Given the description of an element on the screen output the (x, y) to click on. 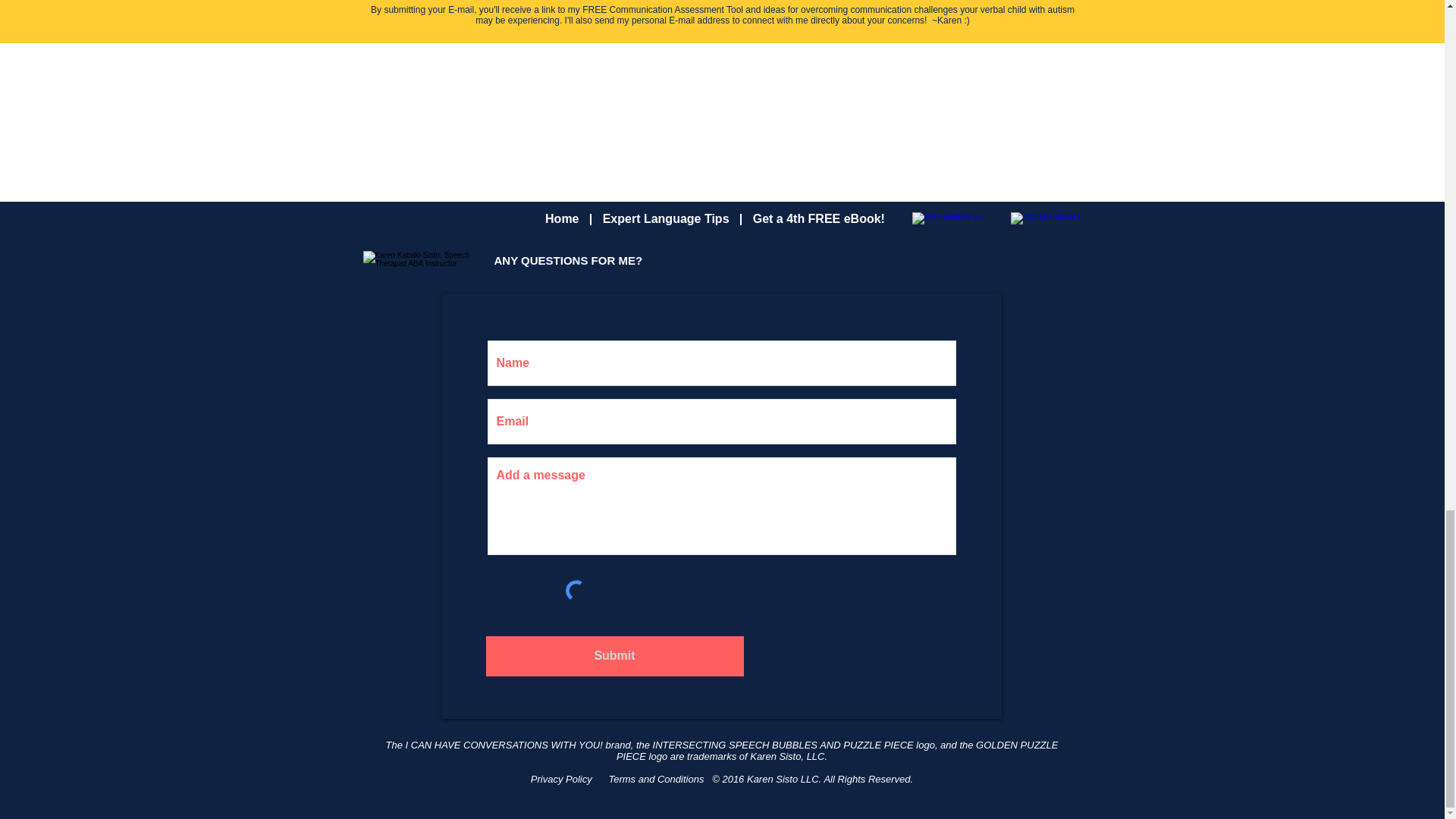
Expert Language Tips (665, 218)
Privacy Policy       (569, 778)
Home (561, 218)
Get a 4th FREE eBook! (818, 218)
Submit (613, 656)
Terms and Conditions    (659, 778)
